Given the description of an element on the screen output the (x, y) to click on. 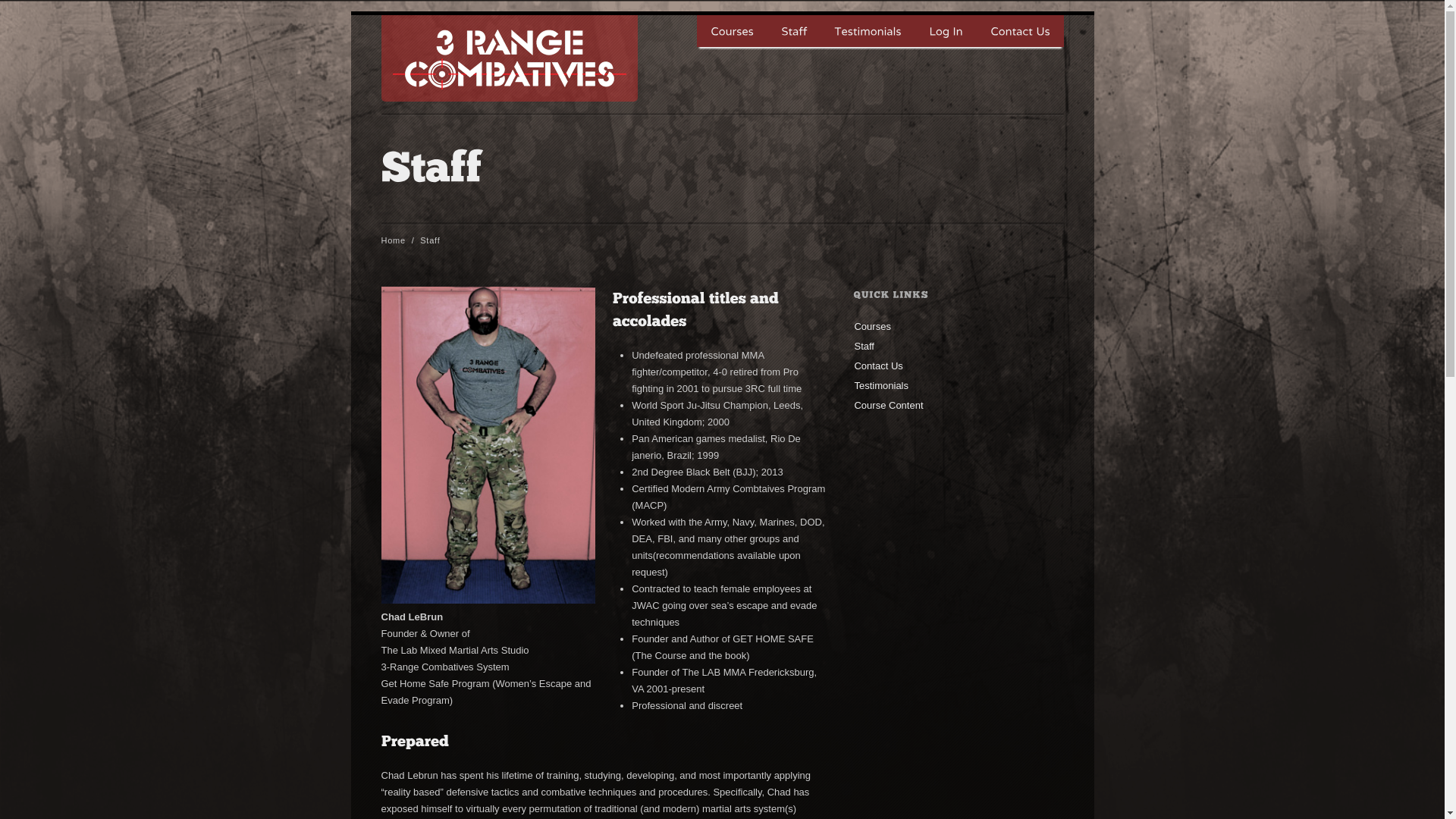
Home Element type: text (392, 239)
Contact Us Element type: text (1020, 30)
Courses Element type: text (731, 30)
Staff Element type: text (863, 345)
Testimonials Element type: text (880, 385)
Log In Element type: text (945, 30)
Contact Us Element type: text (877, 365)
Staff Element type: text (793, 30)
Testimonials Element type: text (867, 30)
Courses Element type: text (871, 326)
Course Content Element type: text (887, 405)
